Given the description of an element on the screen output the (x, y) to click on. 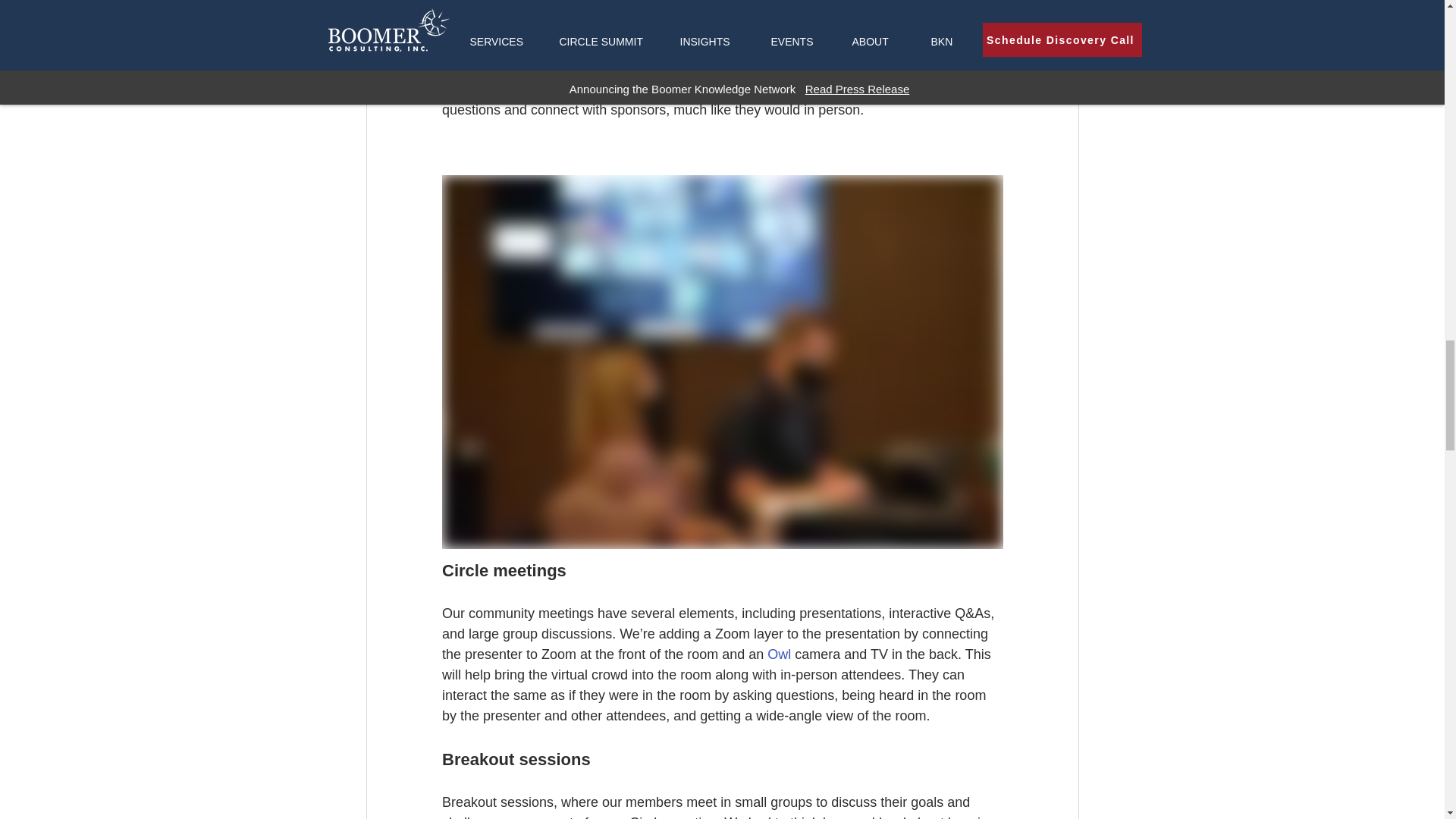
Owl (778, 654)
